Given the description of an element on the screen output the (x, y) to click on. 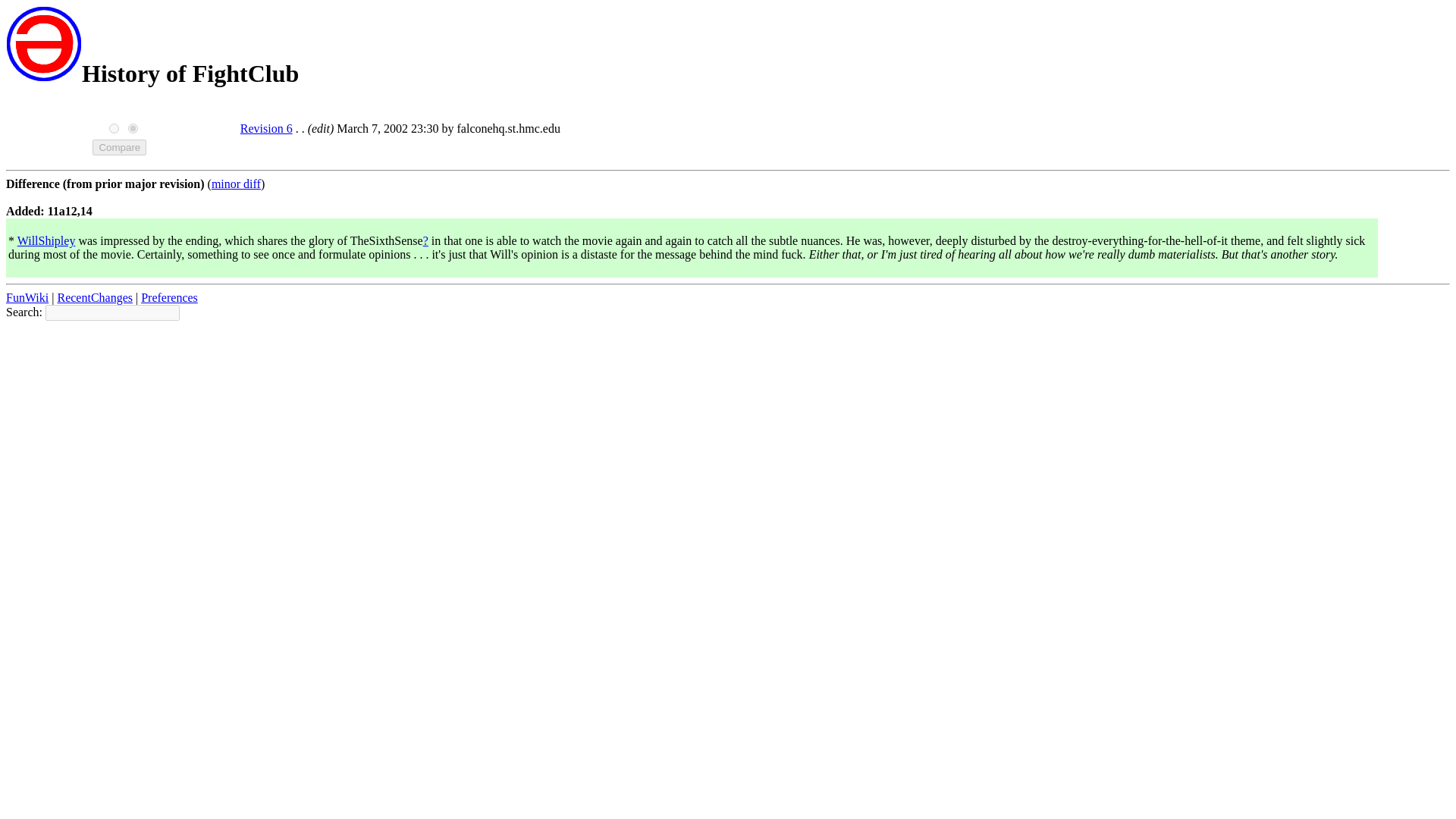
minor diff (235, 183)
WillShipley (46, 240)
FunWiki (26, 297)
RecentChanges (94, 297)
Revision 6 (266, 128)
Preferences (169, 297)
Compare (120, 147)
6 (114, 128)
Compare (120, 147)
6 (133, 128)
